Given the description of an element on the screen output the (x, y) to click on. 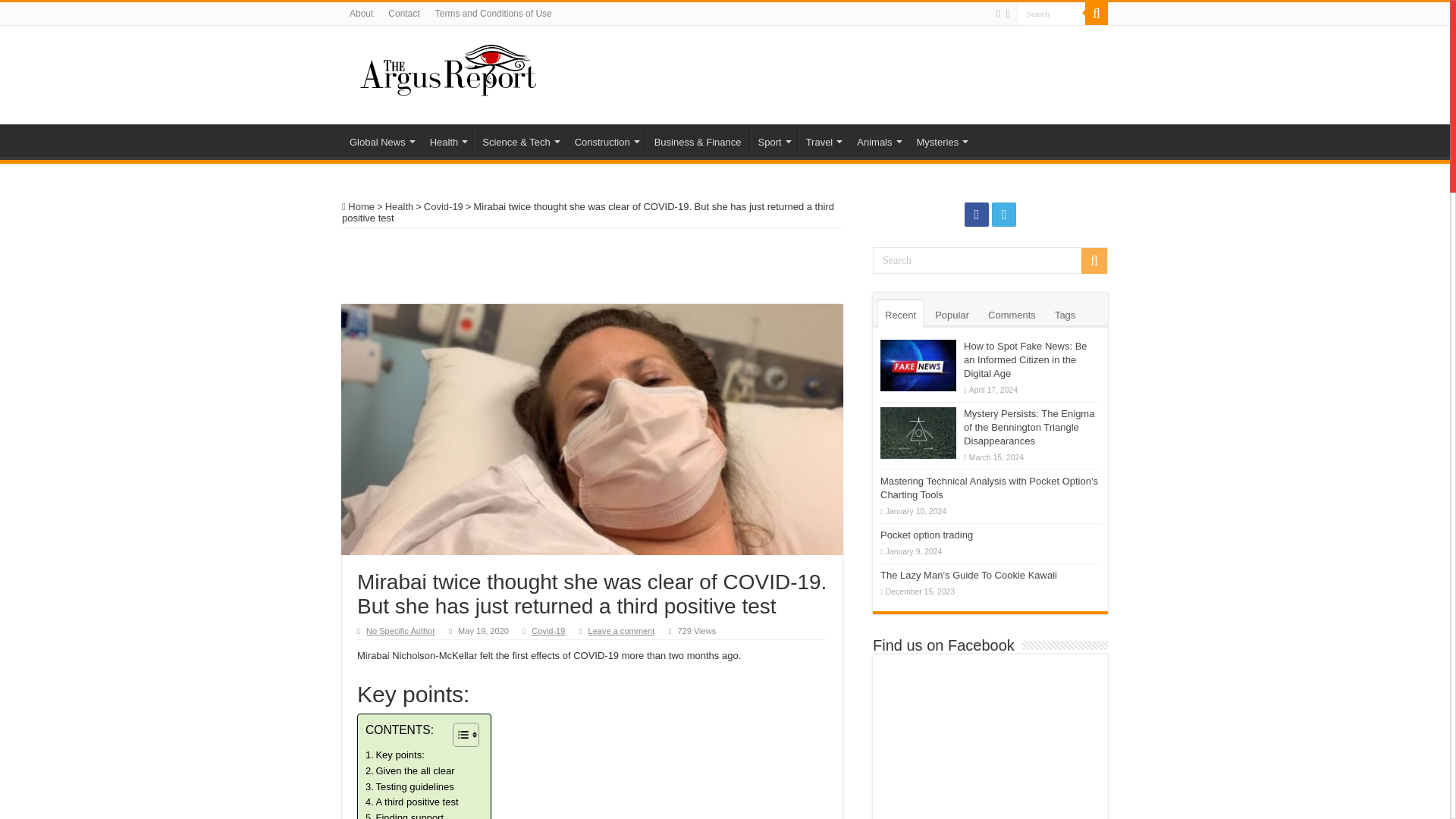
Search (990, 260)
Given the all clear (409, 771)
Search (1050, 13)
Search (1050, 13)
The Argus Report (448, 67)
Testing guidelines (409, 787)
A third positive test (411, 802)
Search (1050, 13)
Advertisement (820, 74)
Advertisement (592, 266)
Finding support (404, 814)
Key points: (395, 755)
